Given the description of an element on the screen output the (x, y) to click on. 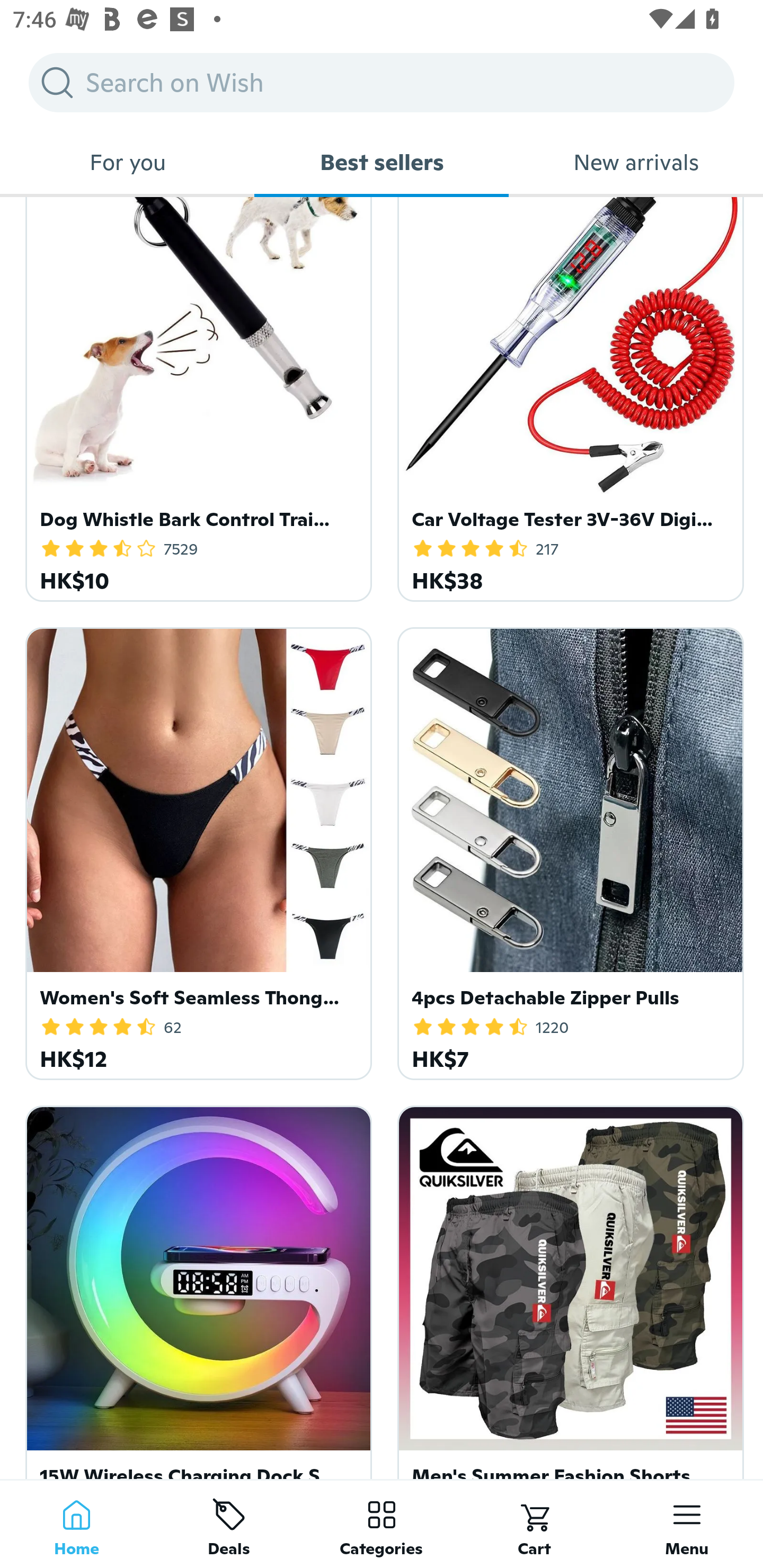
Search on Wish (381, 82)
For you (127, 161)
Best sellers (381, 161)
New arrivals (635, 161)
15W Wireless Charging Dock Station Speaker Lamp (195, 1288)
Men's Summer Fashion Shorts Pant Capris (566, 1288)
Home (76, 1523)
Deals (228, 1523)
Categories (381, 1523)
Cart (533, 1523)
Menu (686, 1523)
